Given the description of an element on the screen output the (x, y) to click on. 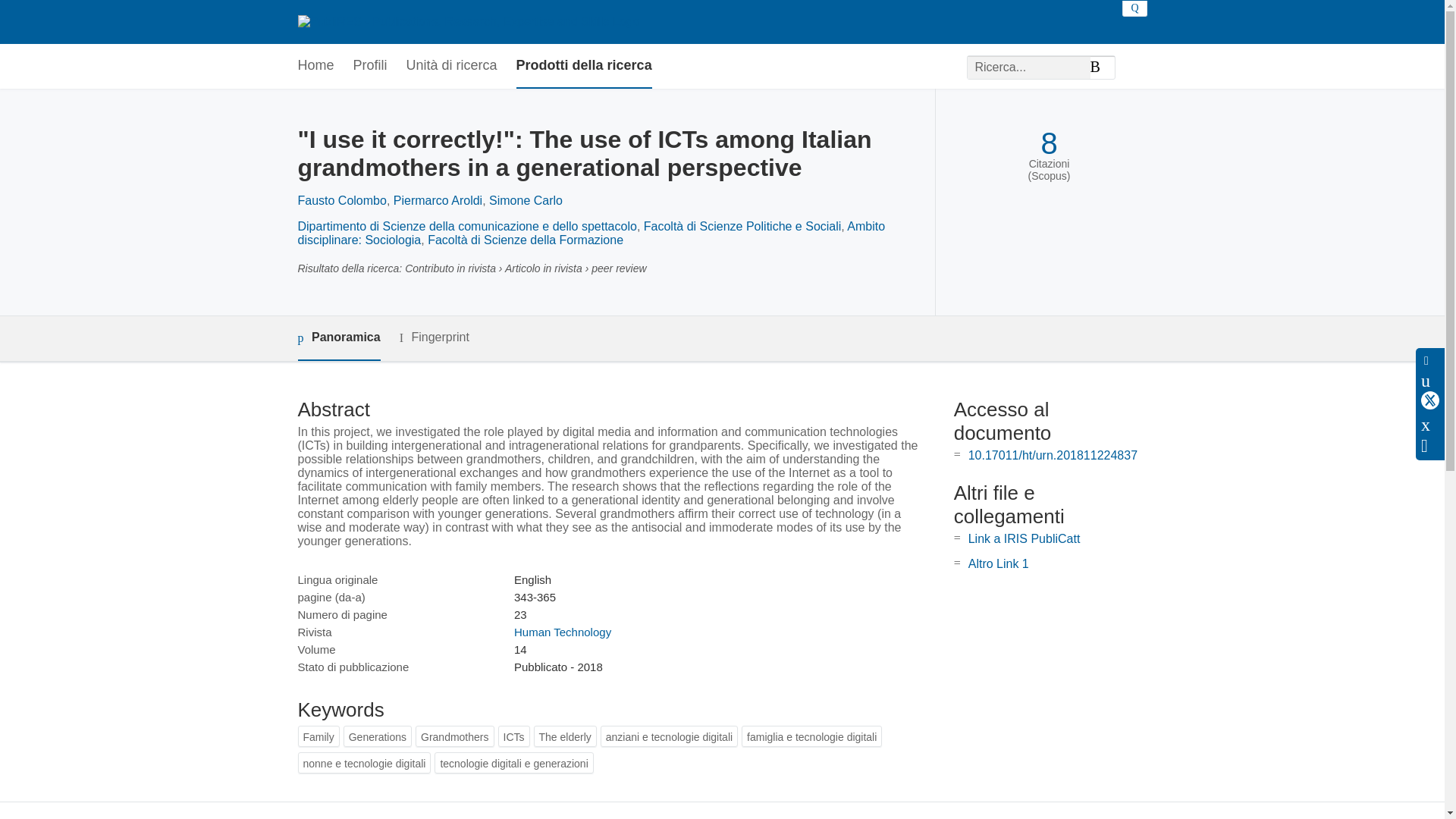
Simone Carlo (525, 200)
PubliRES - Publications, Research, Expertise and Skills Home (468, 21)
Panoramica (338, 338)
Altro Link 1 (998, 563)
Piermarco Aroldi (437, 200)
Human Technology (562, 631)
Link a IRIS PubliCatt (1024, 538)
Ambito disciplinare: Sociologia (591, 233)
